Given the description of an element on the screen output the (x, y) to click on. 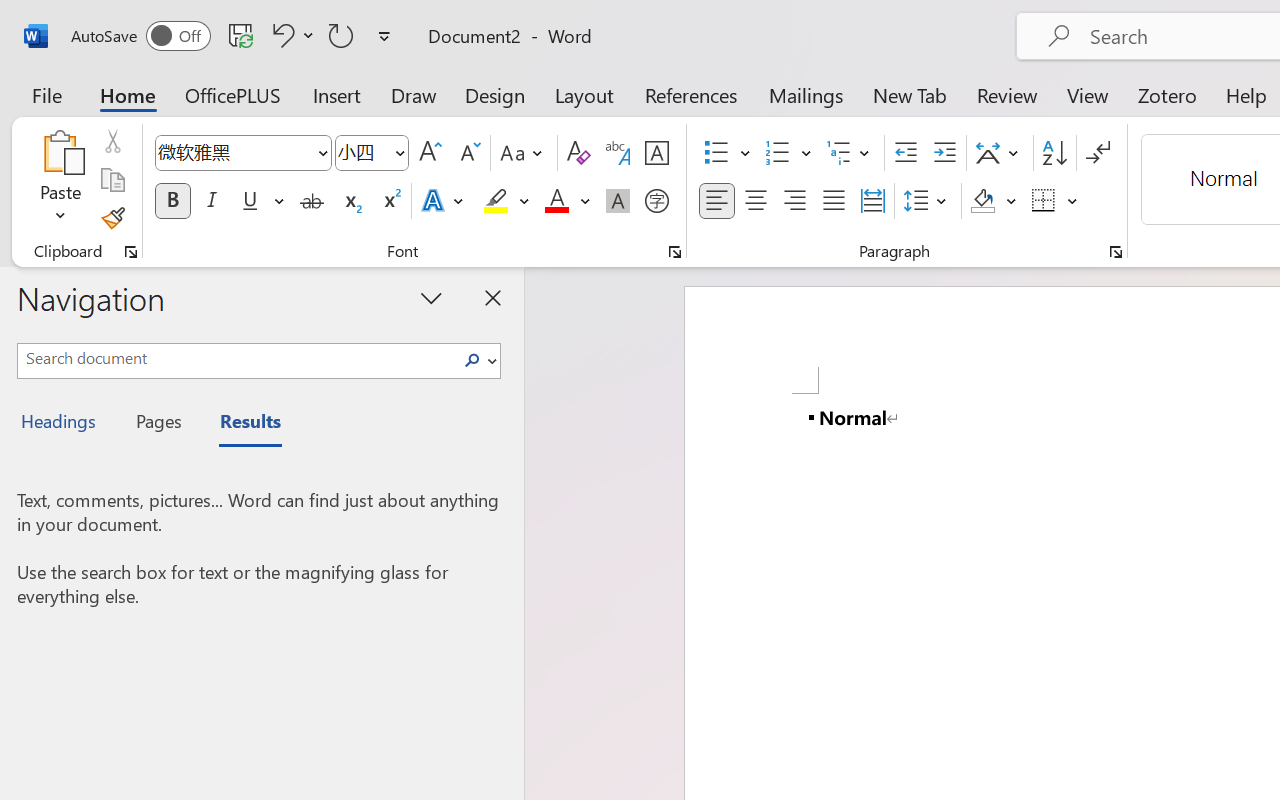
Italic (212, 201)
Multilevel List (850, 153)
Subscript (350, 201)
Clear Formatting (578, 153)
Numbering (788, 153)
Zotero (1166, 94)
Format Painter (112, 218)
Customize Quick Access Toolbar (384, 35)
Strikethrough (312, 201)
Undo <ApplyStyleToDoc>b__0 (290, 35)
Paste (60, 151)
Underline (250, 201)
Search (471, 360)
Font Size (372, 153)
Font (234, 152)
